Given the description of an element on the screen output the (x, y) to click on. 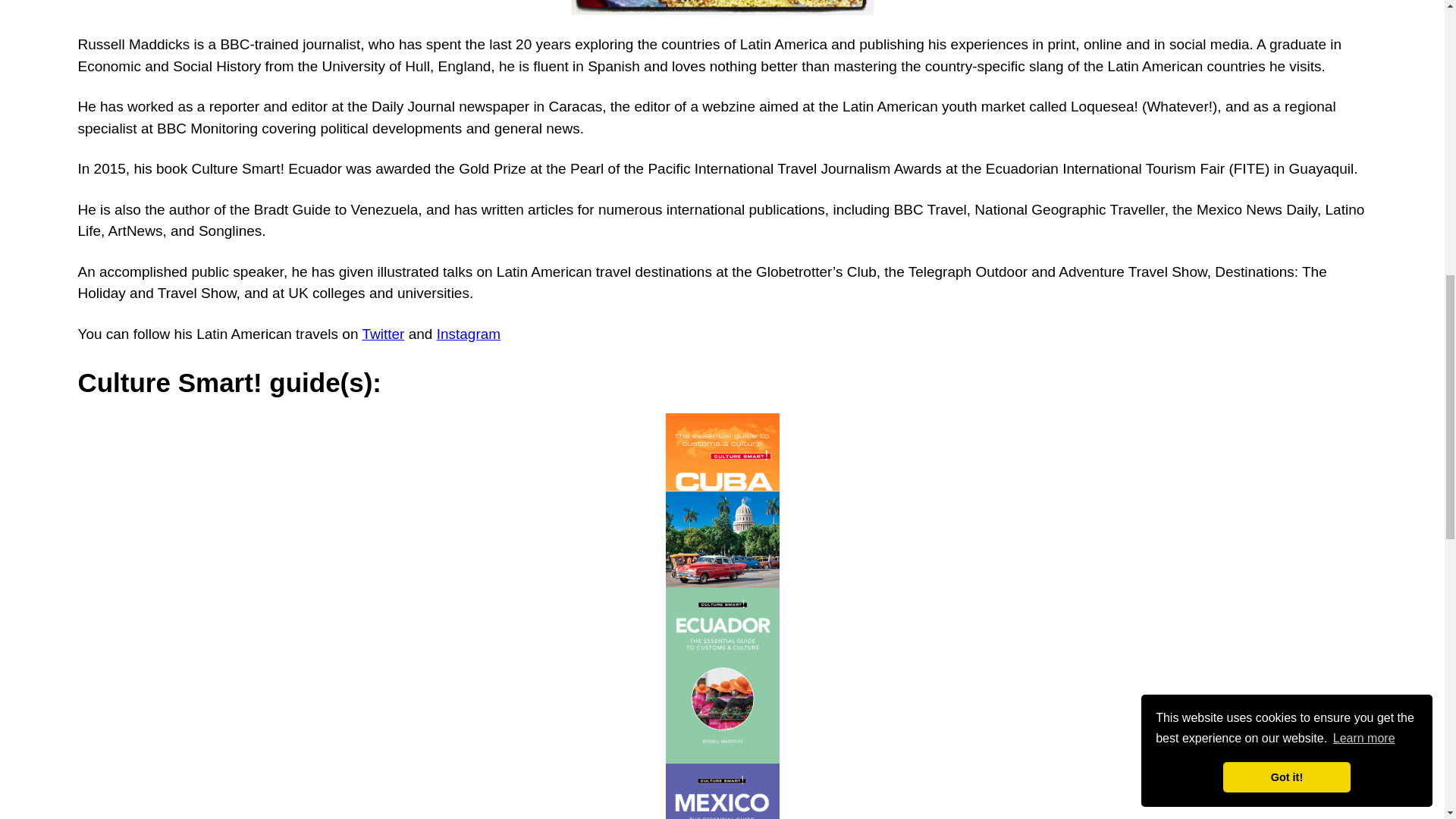
Instagram (468, 333)
Twitter (382, 333)
Mexico (722, 791)
